Given the description of an element on the screen output the (x, y) to click on. 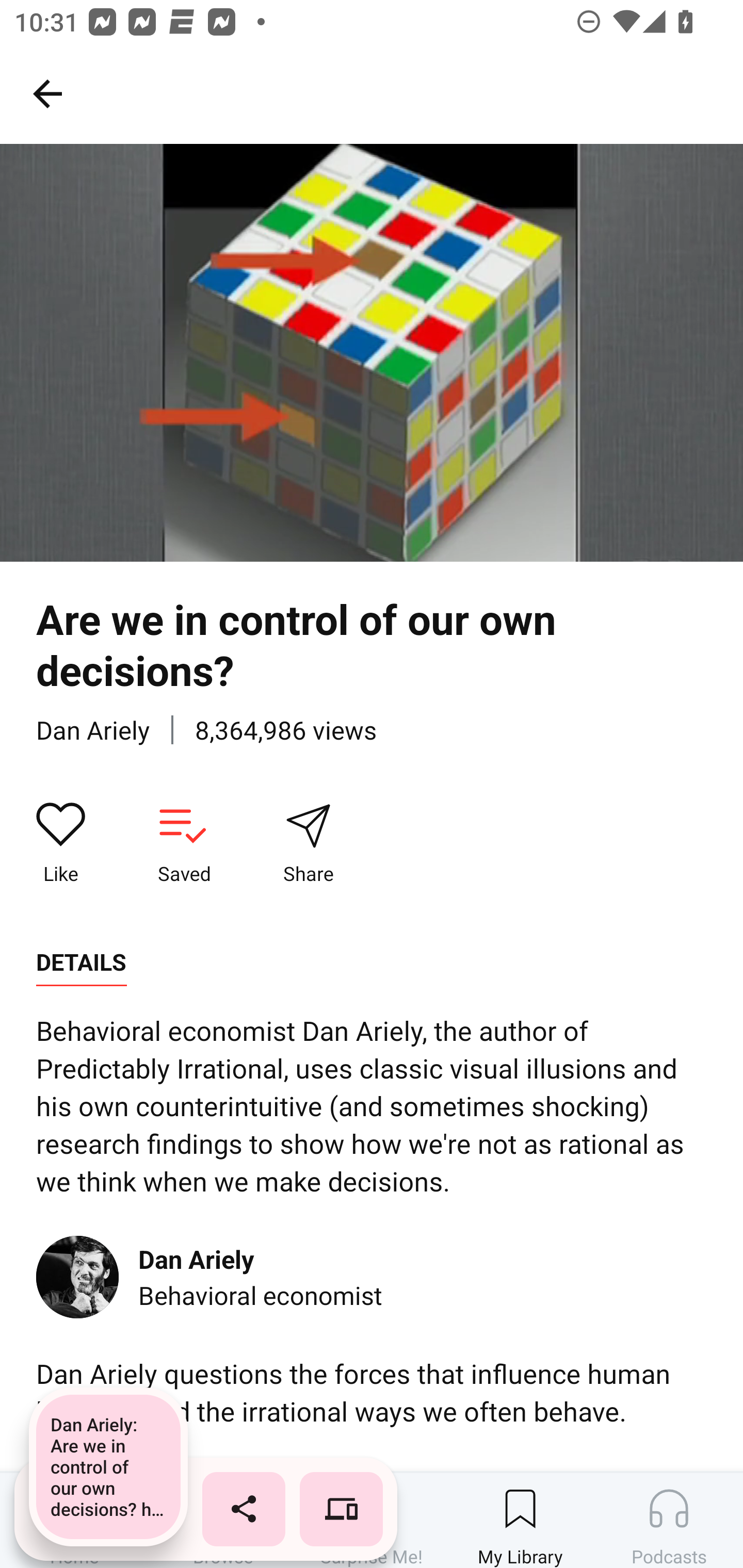
My Library, back (47, 92)
Like (60, 843)
Saved (183, 843)
Share (308, 843)
DETAILS (80, 962)
My Library (519, 1520)
Podcasts (668, 1520)
